Given the description of an element on the screen output the (x, y) to click on. 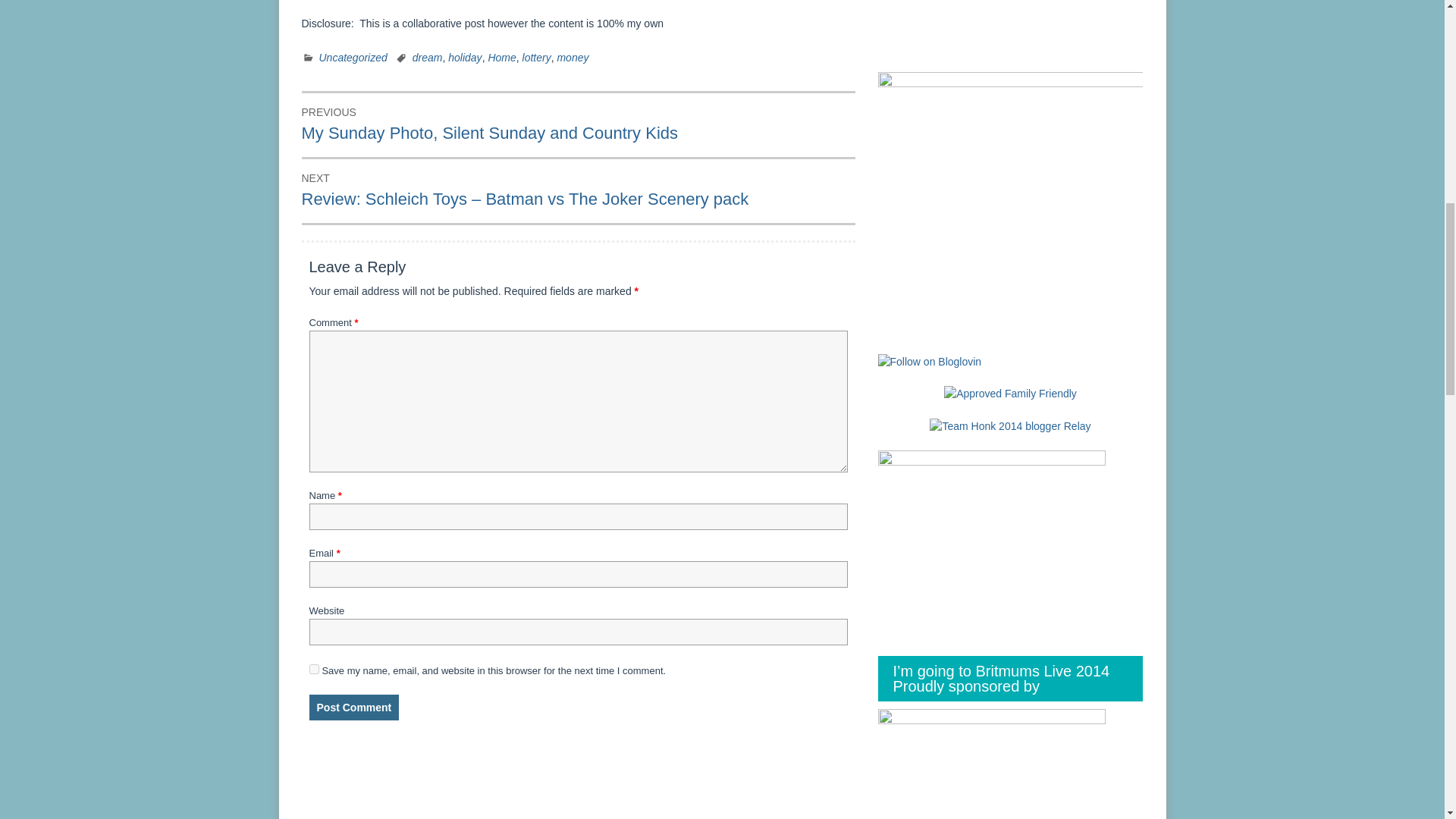
Post Comment (353, 707)
yes (313, 669)
holiday (464, 57)
money (572, 57)
AFF Assessor Badge (1010, 393)
Follow Mum of 3 Boys on Bloglovin (929, 360)
Approved Family Friendly Trustmark (1010, 393)
Uncategorized (352, 57)
Home (501, 57)
dream (427, 57)
Team Honk 2014 blogger Relay (1010, 425)
lottery (536, 57)
Post Comment (353, 707)
